Given the description of an element on the screen output the (x, y) to click on. 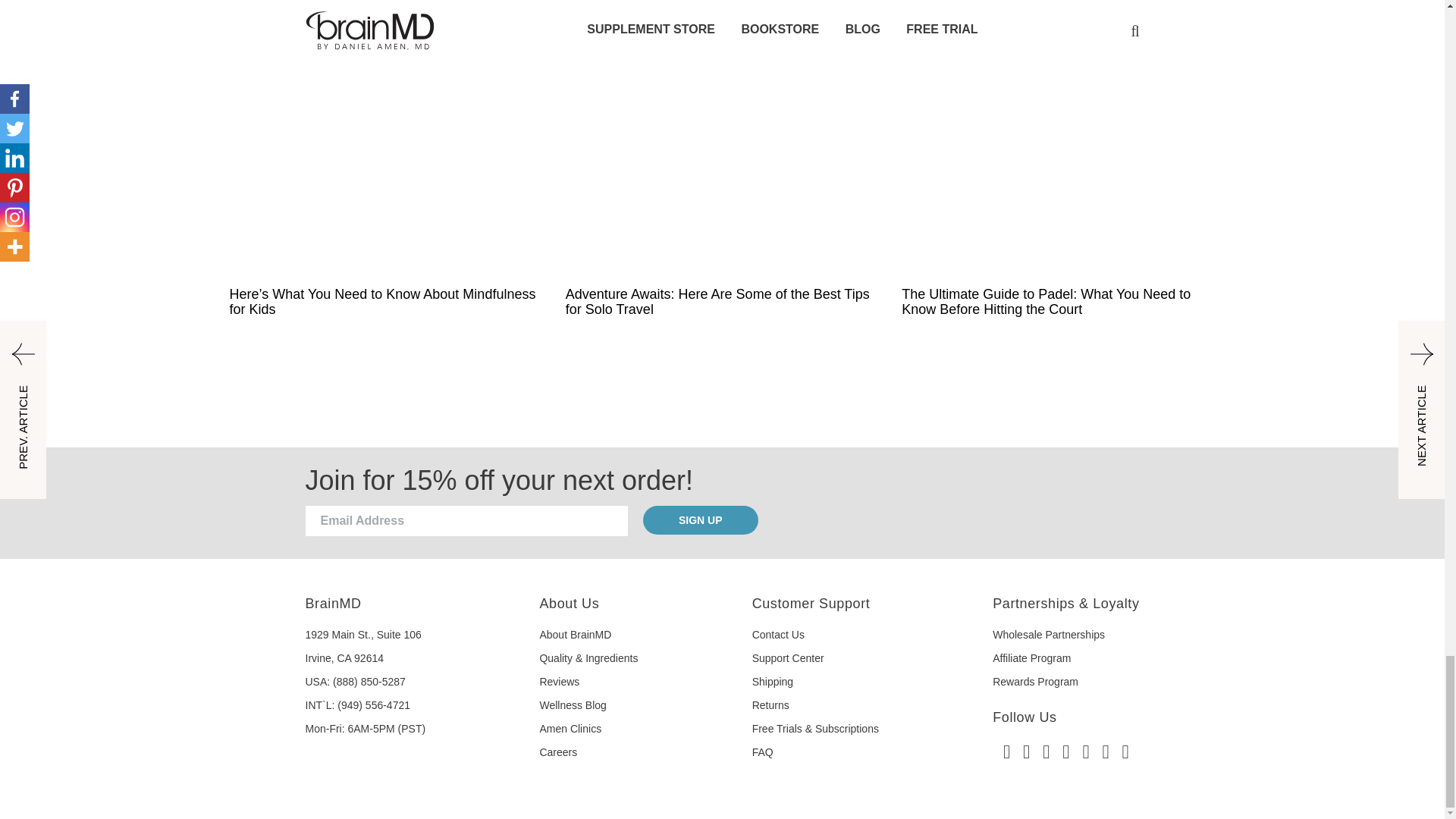
Sign Up (700, 520)
